Given the description of an element on the screen output the (x, y) to click on. 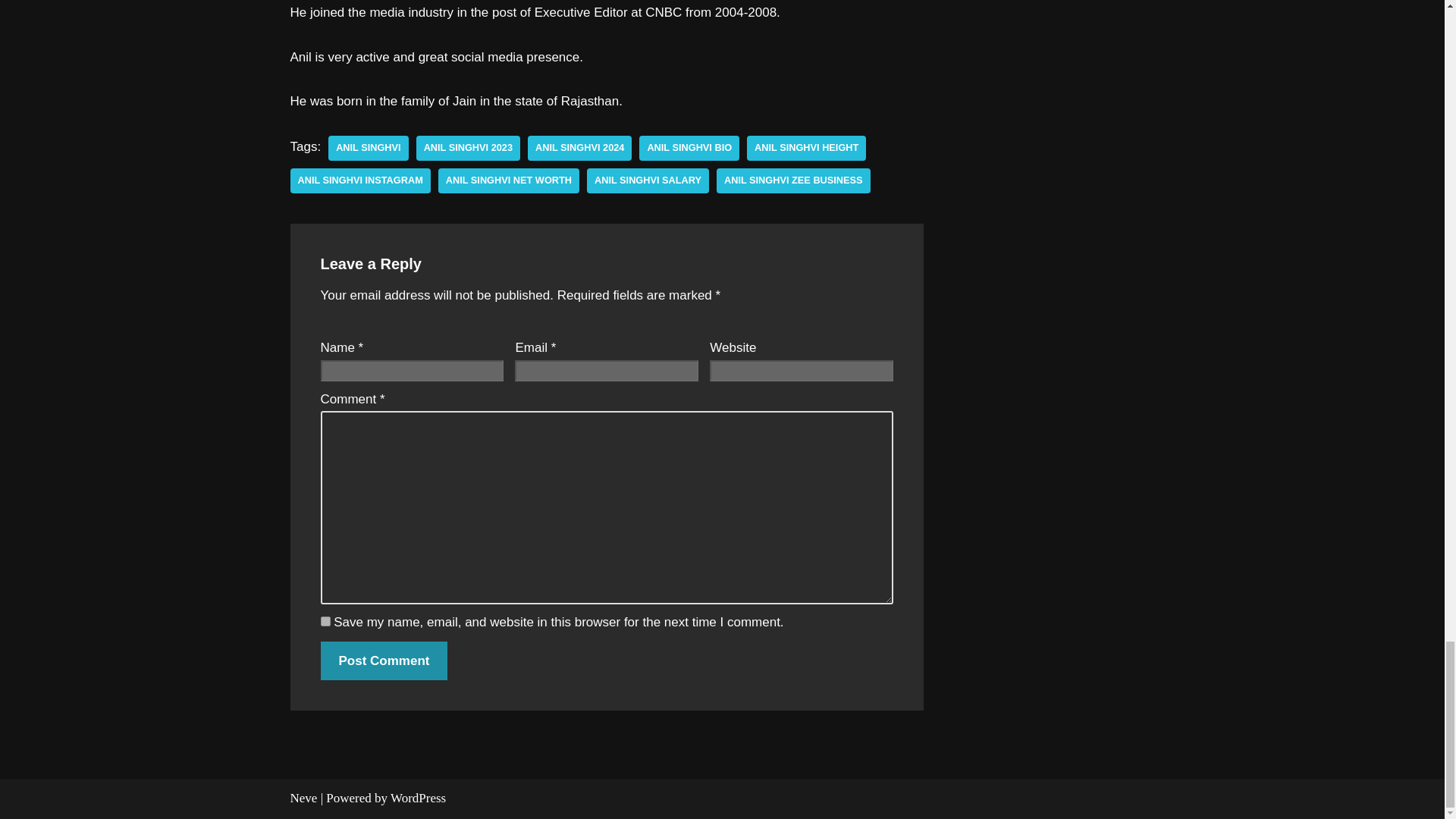
yes (325, 621)
anil singhvi 2023 (467, 147)
Anil Singhvi (368, 147)
Post Comment (383, 660)
